Given the description of an element on the screen output the (x, y) to click on. 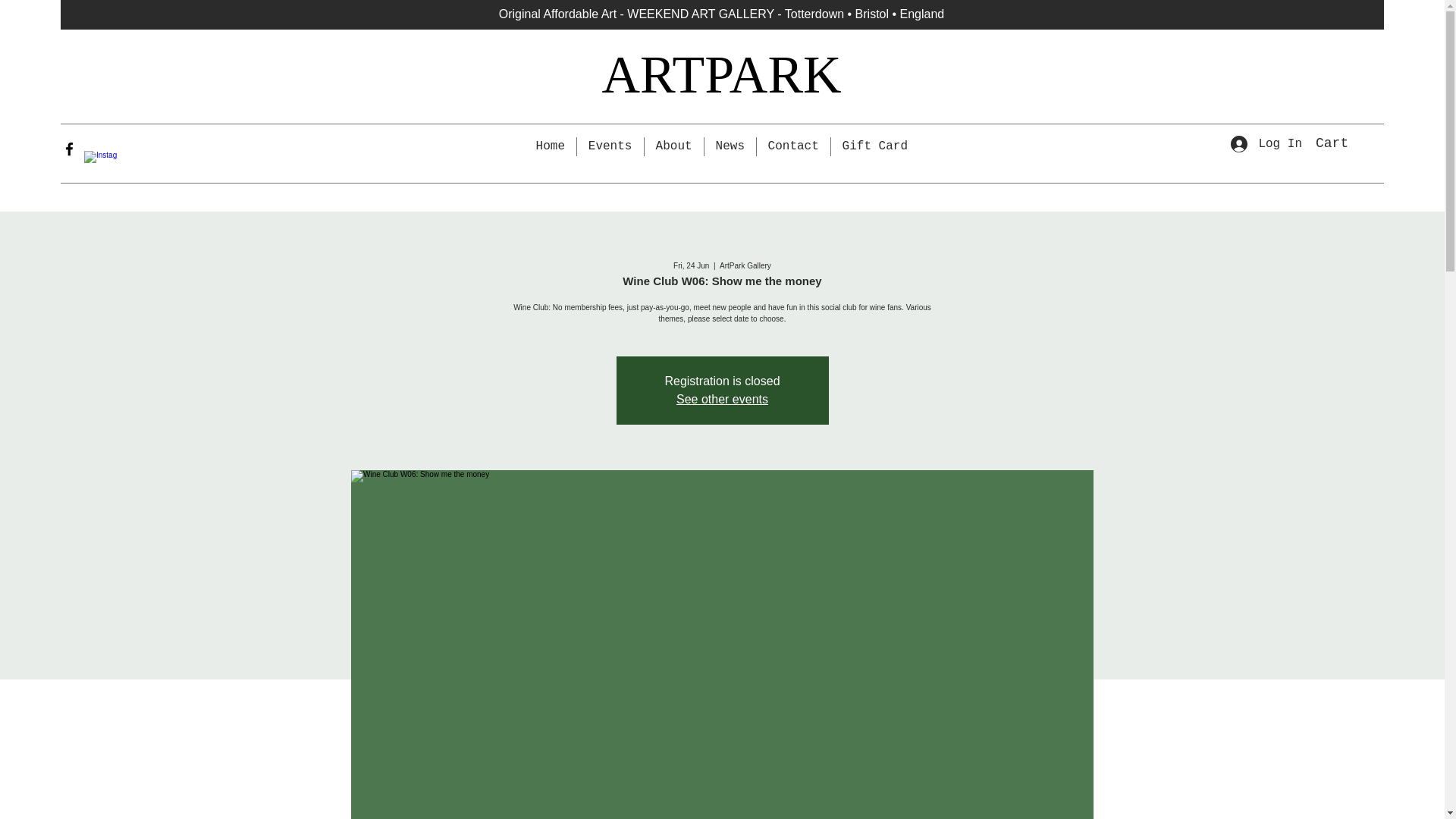
News (729, 146)
ARTPARK (721, 74)
Log In (1266, 144)
Home (550, 146)
Cart (1348, 141)
See other events (722, 399)
Events (609, 146)
Contact (793, 146)
Gift Card (874, 146)
Cart (1348, 141)
About (674, 146)
